Given the description of an element on the screen output the (x, y) to click on. 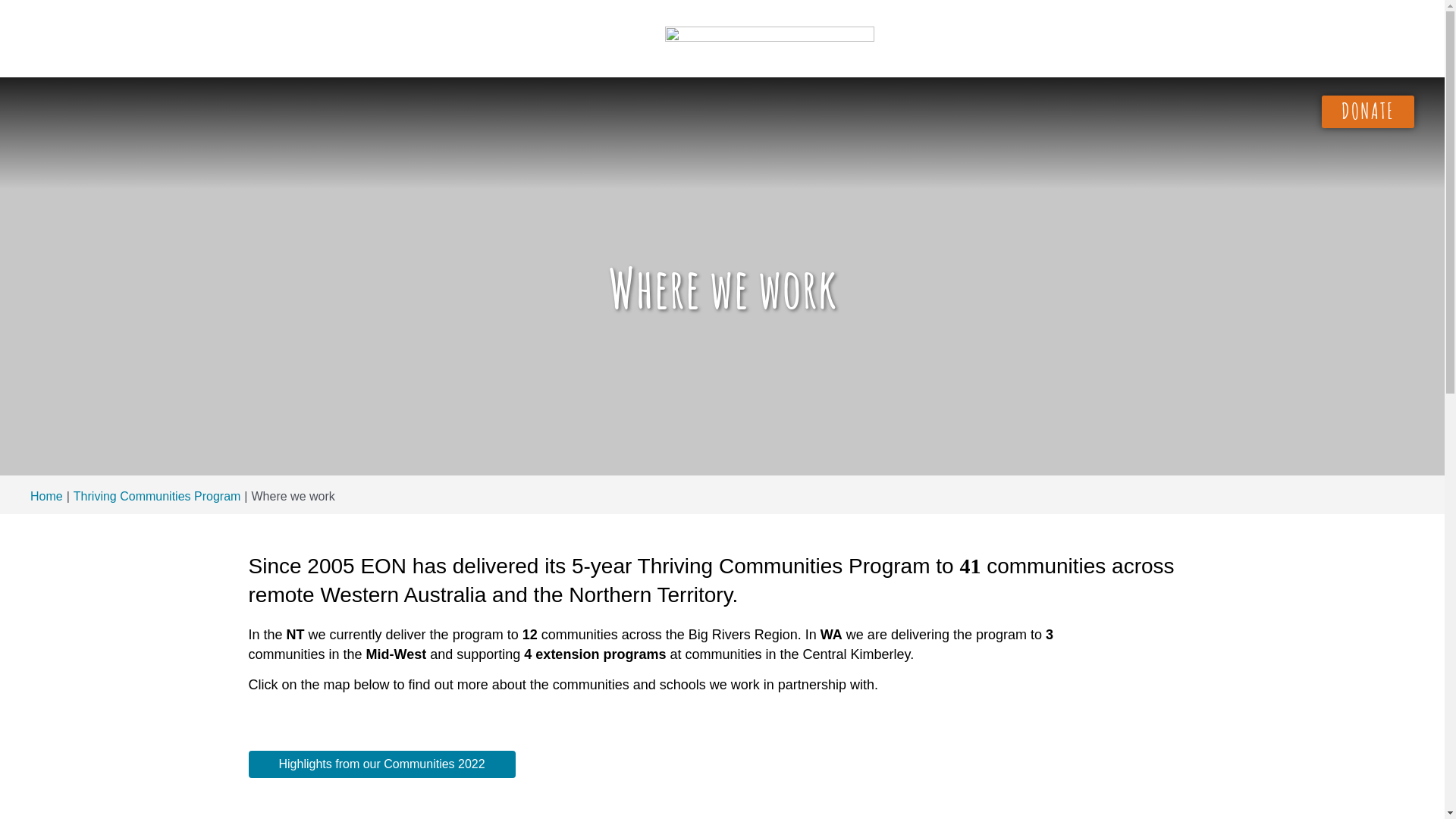
Home Element type: text (46, 495)
Highlights from our Communities 2022 Element type: text (381, 764)
Search Element type: text (53, 15)
Thriving Communities Program Element type: text (157, 495)
DONATE Element type: text (1367, 111)
